Given the description of an element on the screen output the (x, y) to click on. 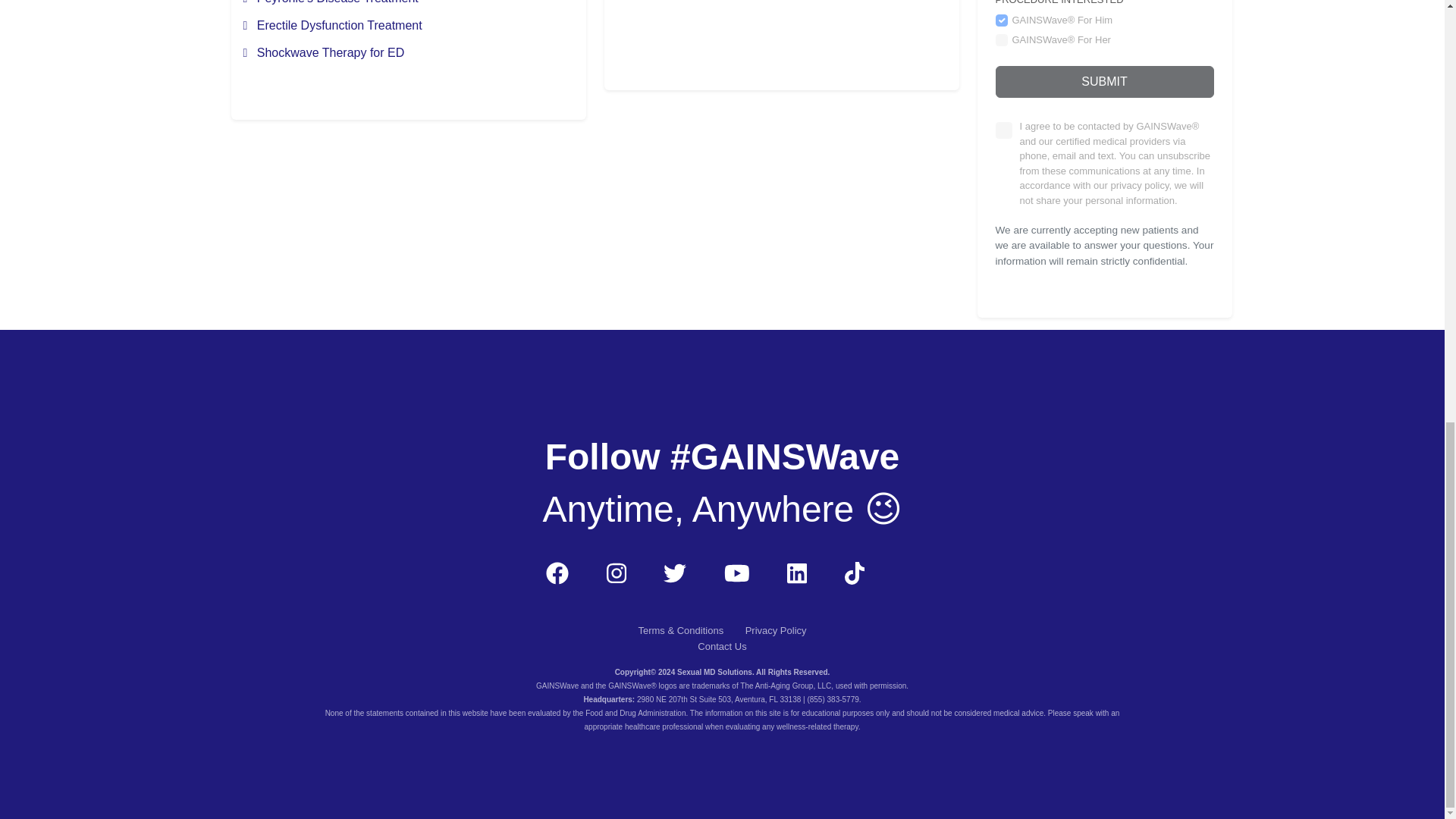
1 (1002, 130)
